Given the description of an element on the screen output the (x, y) to click on. 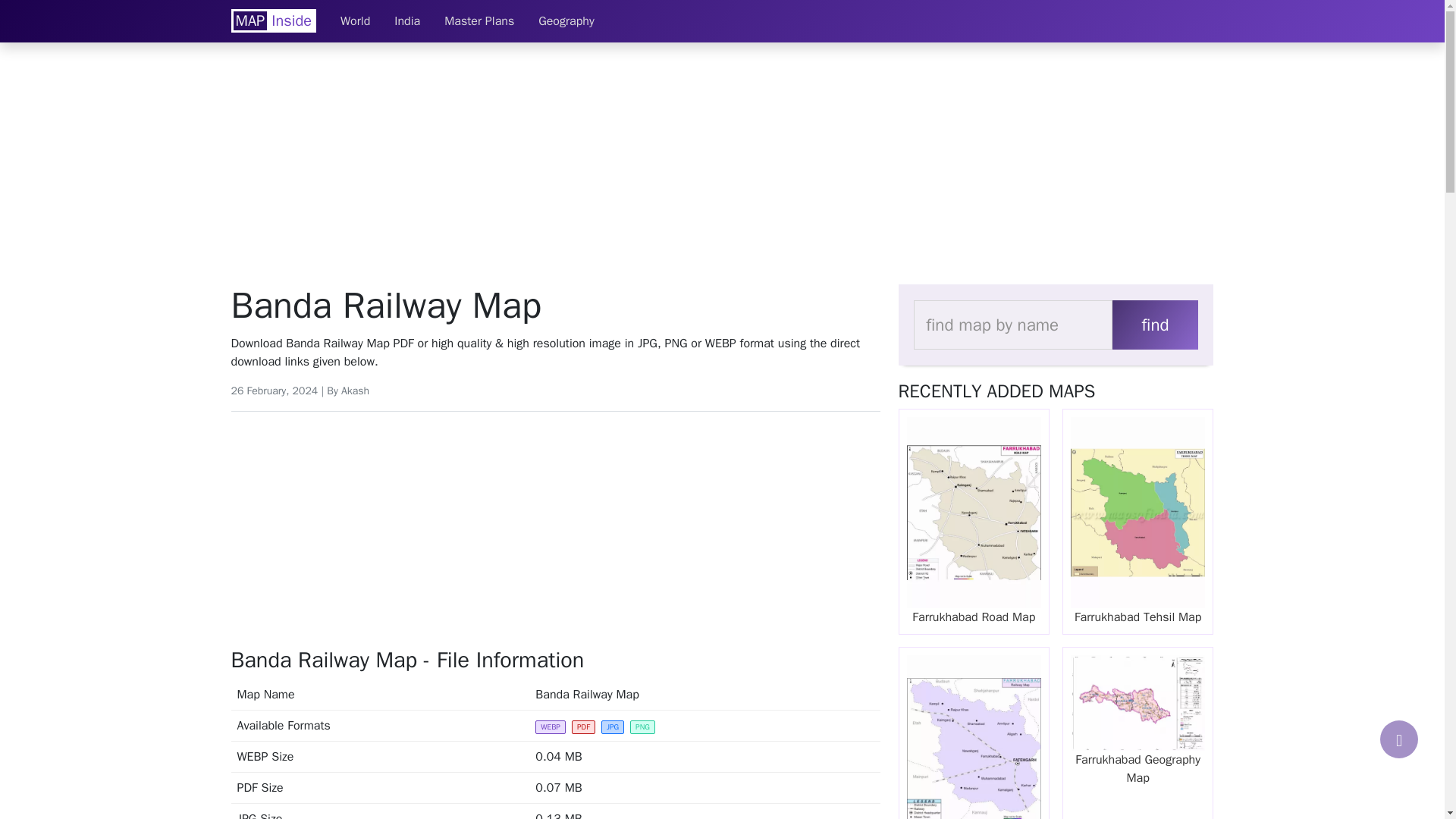
India (406, 20)
find (1154, 325)
find (1154, 325)
MAPInside (272, 20)
Master Plans (478, 20)
World (355, 20)
Geography (566, 20)
Banda Railway Map (554, 306)
